Given the description of an element on the screen output the (x, y) to click on. 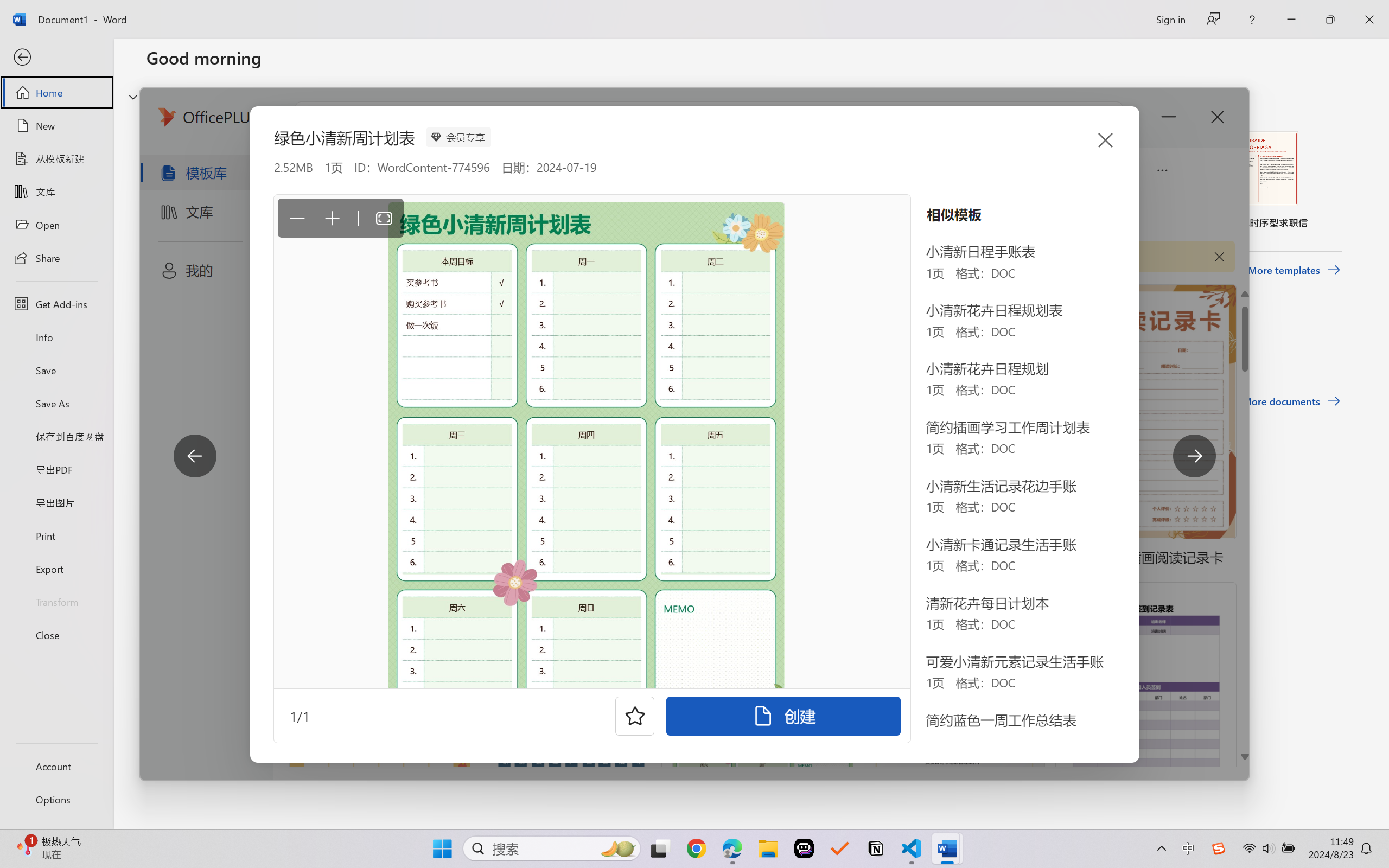
More templates (1293, 270)
Shared with Me (305, 345)
Account (56, 765)
Back (56, 57)
